Given the description of an element on the screen output the (x, y) to click on. 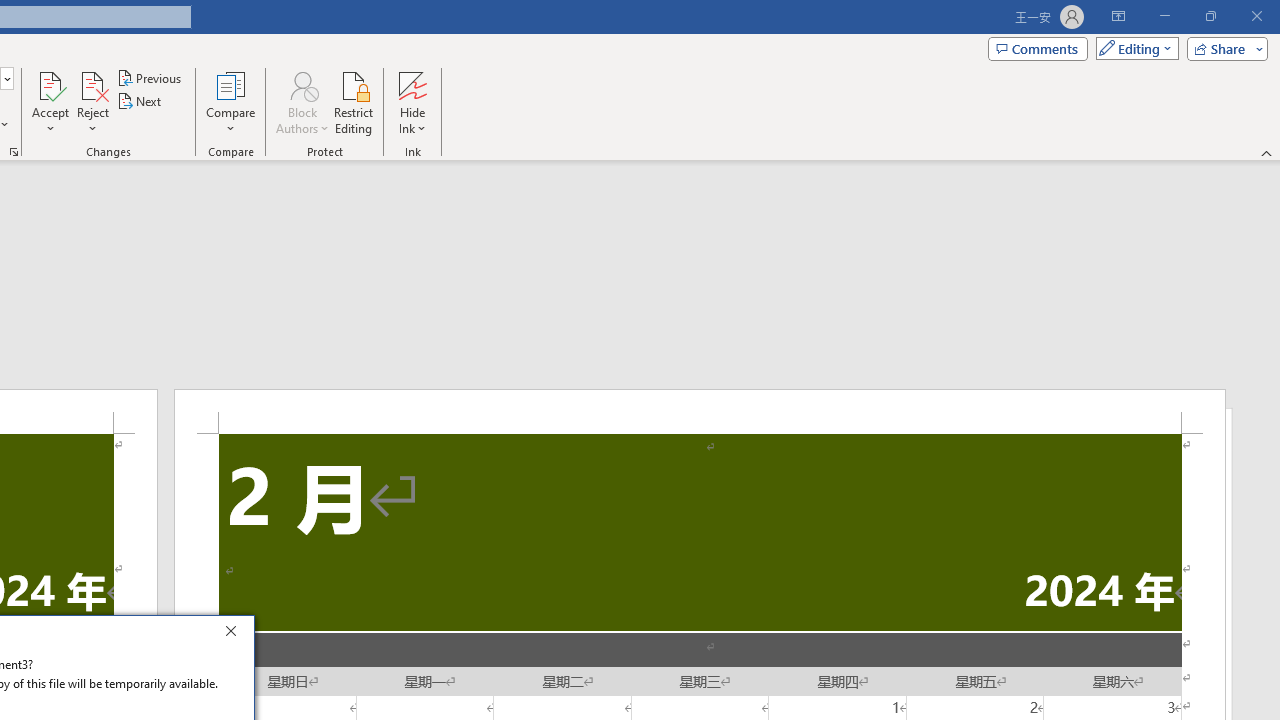
Accept and Move to Next (50, 84)
Mode (1133, 47)
Header -Section 2- (700, 411)
Previous (150, 78)
Hide Ink (412, 102)
Change Tracking Options... (13, 151)
Restrict Editing (353, 102)
Next (140, 101)
Hide Ink (412, 84)
Block Authors (302, 84)
Accept (50, 102)
